Given the description of an element on the screen output the (x, y) to click on. 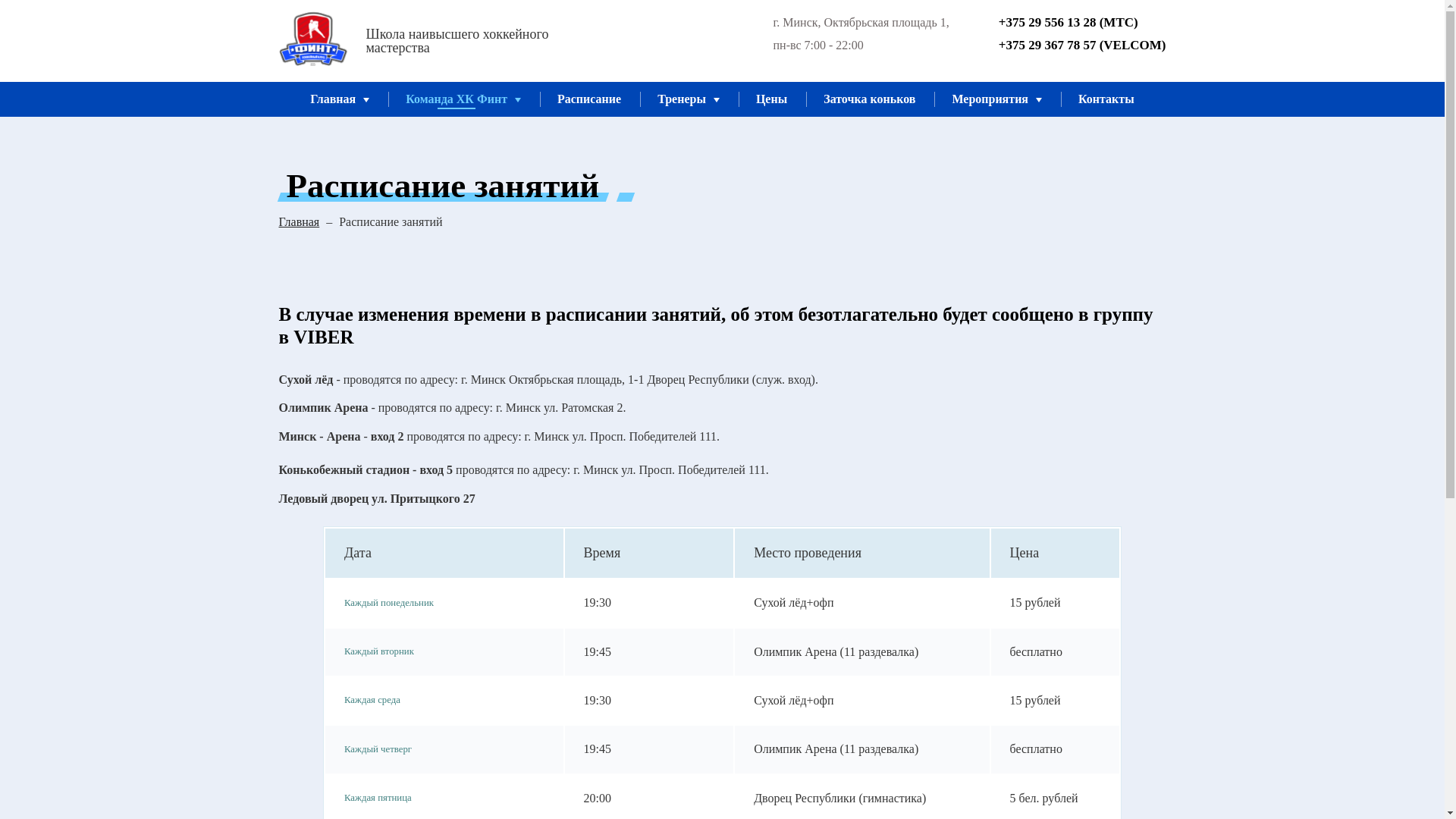
+375 29 367 78 57 (VELCOM) Element type: text (1070, 45)
